Given the description of an element on the screen output the (x, y) to click on. 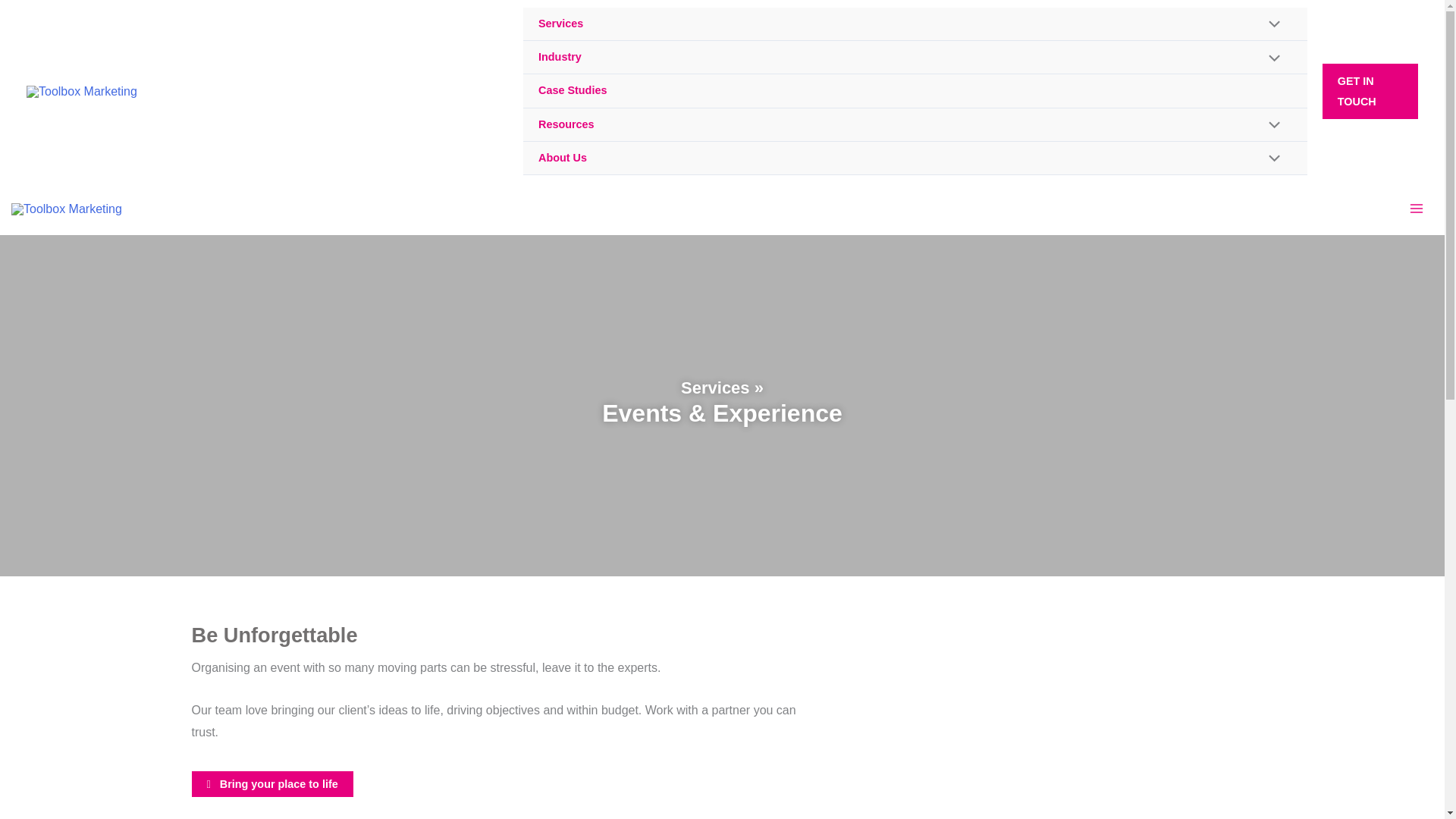
About Us (914, 158)
Industry (914, 57)
Menu Toggle (1270, 58)
Main Menu (1415, 208)
Services (914, 23)
GET IN TOUCH (1370, 91)
Menu Toggle (1270, 159)
Case Studies (914, 90)
Resources (914, 124)
Menu Toggle (1270, 25)
Menu Toggle (1270, 126)
